Given the description of an element on the screen output the (x, y) to click on. 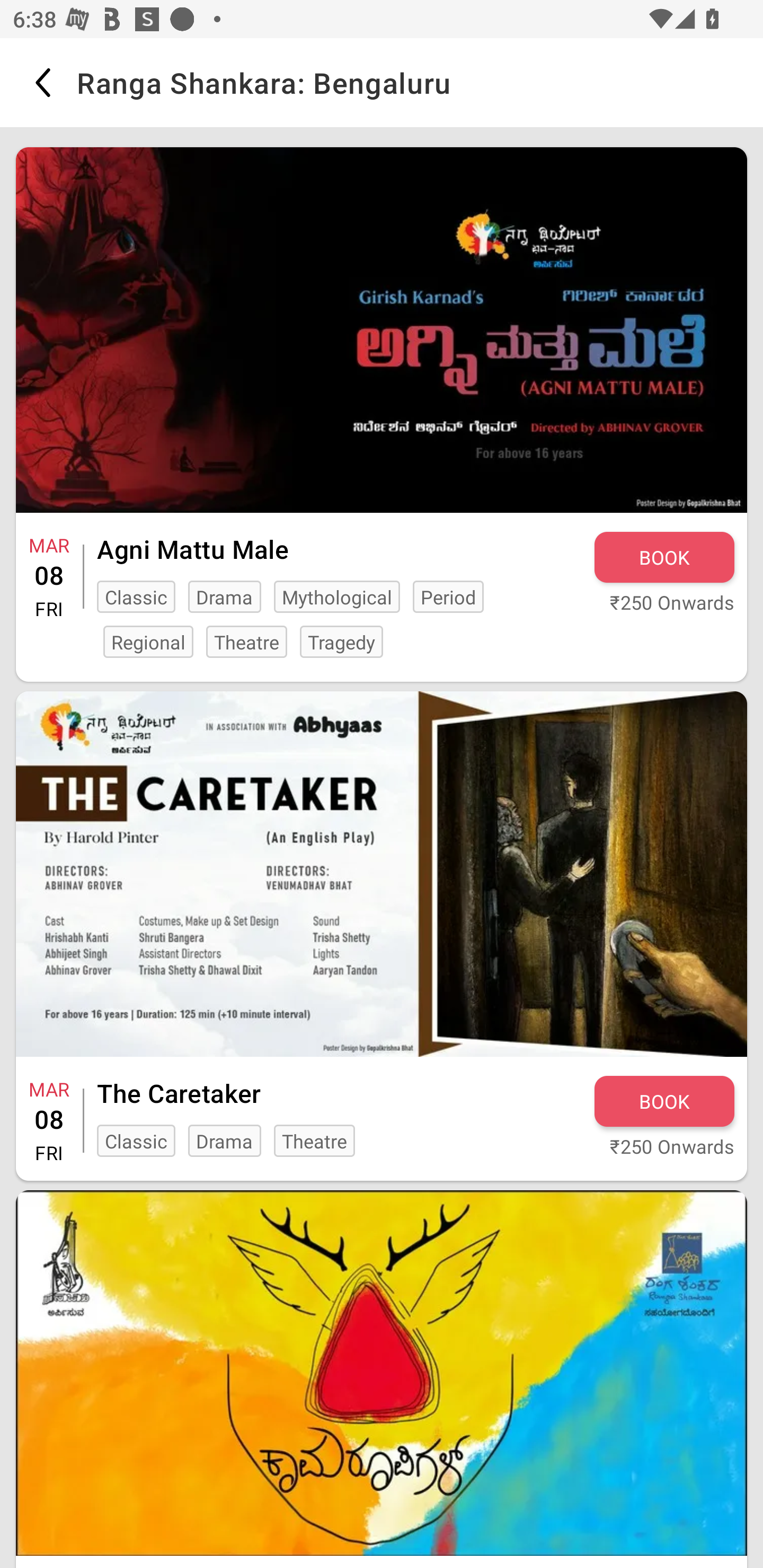
BOOK (664, 557)
BOOK (664, 1101)
